Given the description of an element on the screen output the (x, y) to click on. 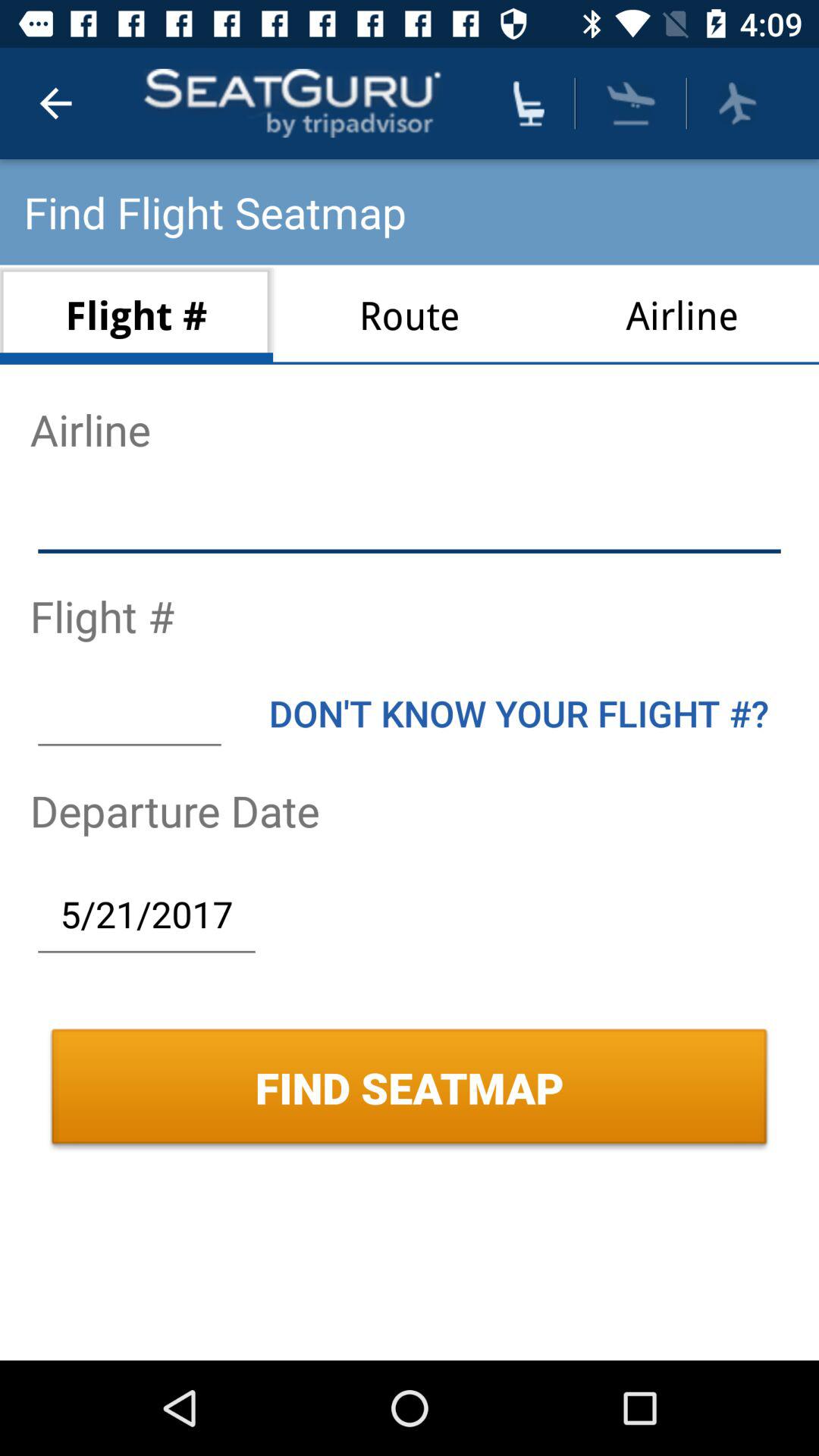
click icon above find seatmap icon (146, 913)
